Given the description of an element on the screen output the (x, y) to click on. 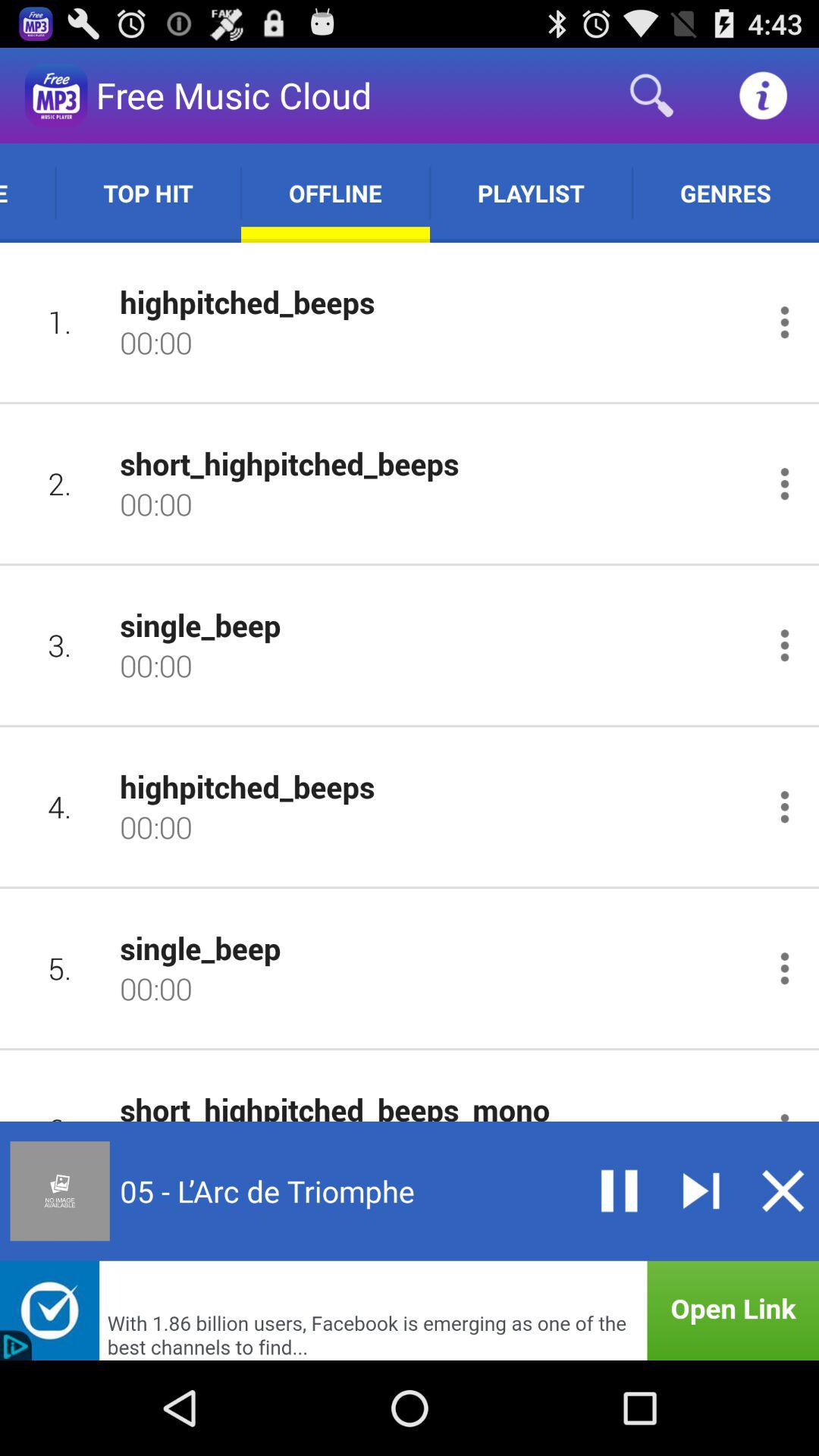
stop playing (783, 1190)
